Given the description of an element on the screen output the (x, y) to click on. 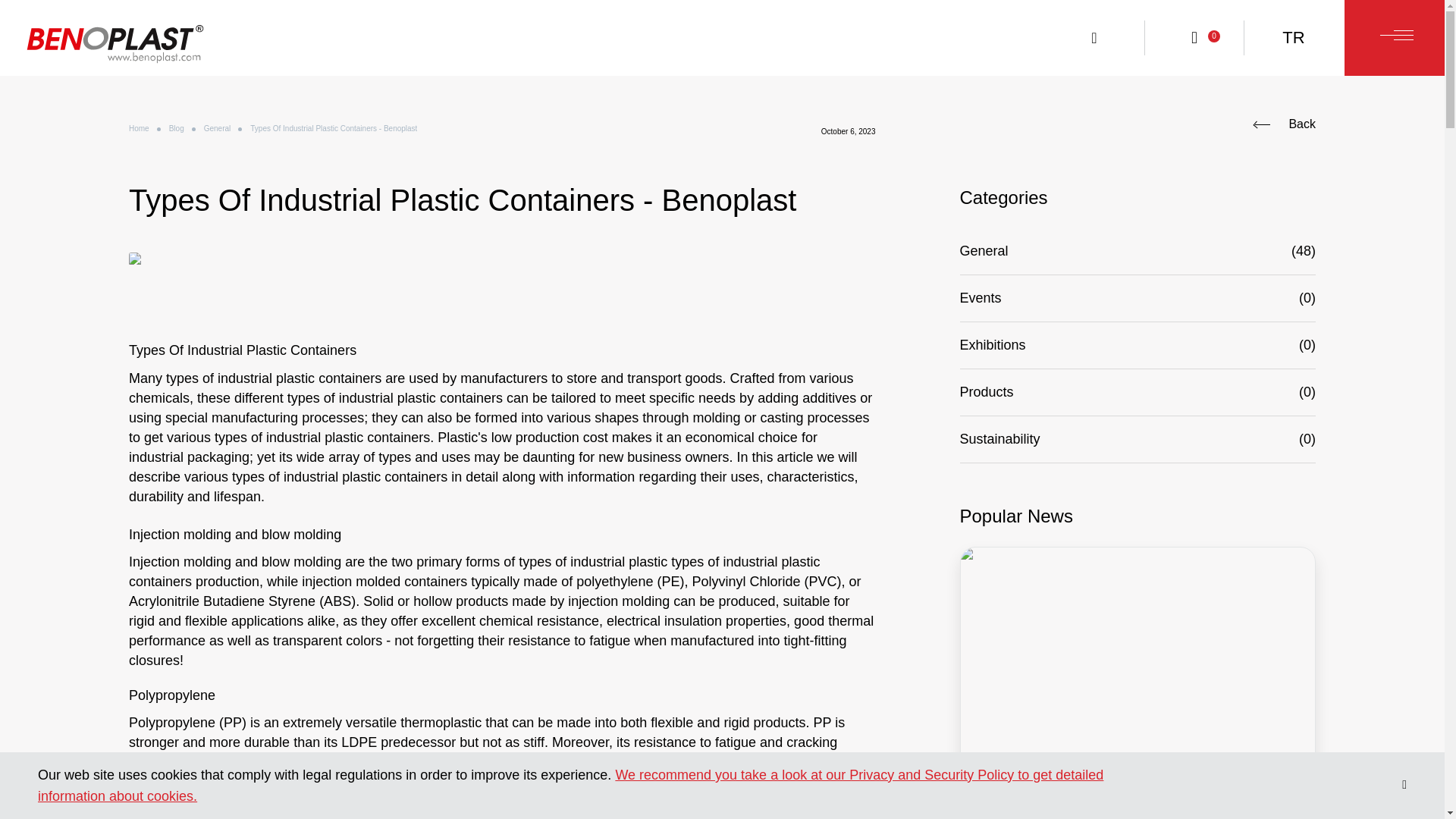
Home (139, 128)
TR (1293, 38)
